Given the description of an element on the screen output the (x, y) to click on. 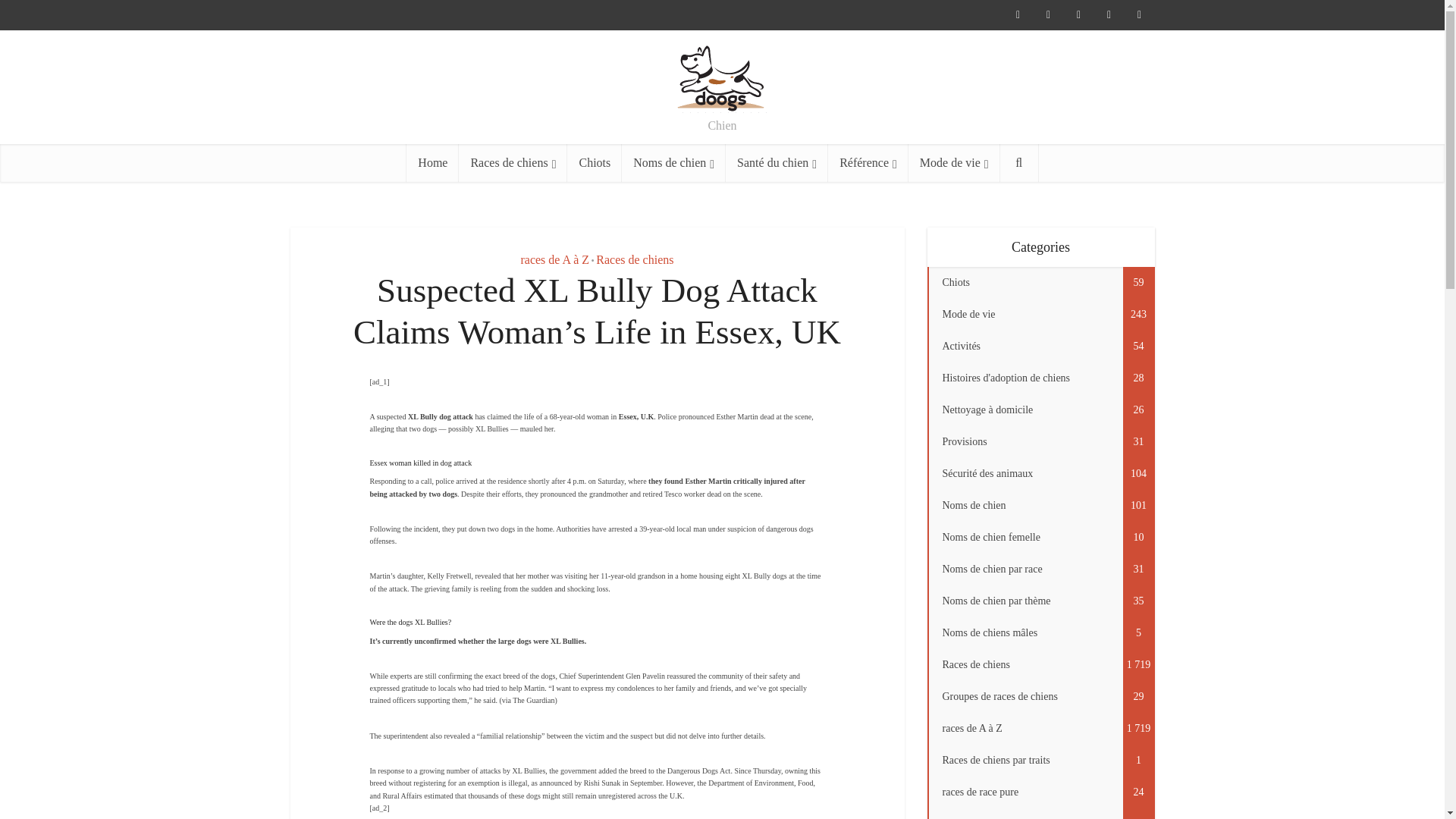
Home (432, 162)
Races de chiens (512, 162)
Chiots (594, 162)
Noms de chien (673, 162)
